Given the description of an element on the screen output the (x, y) to click on. 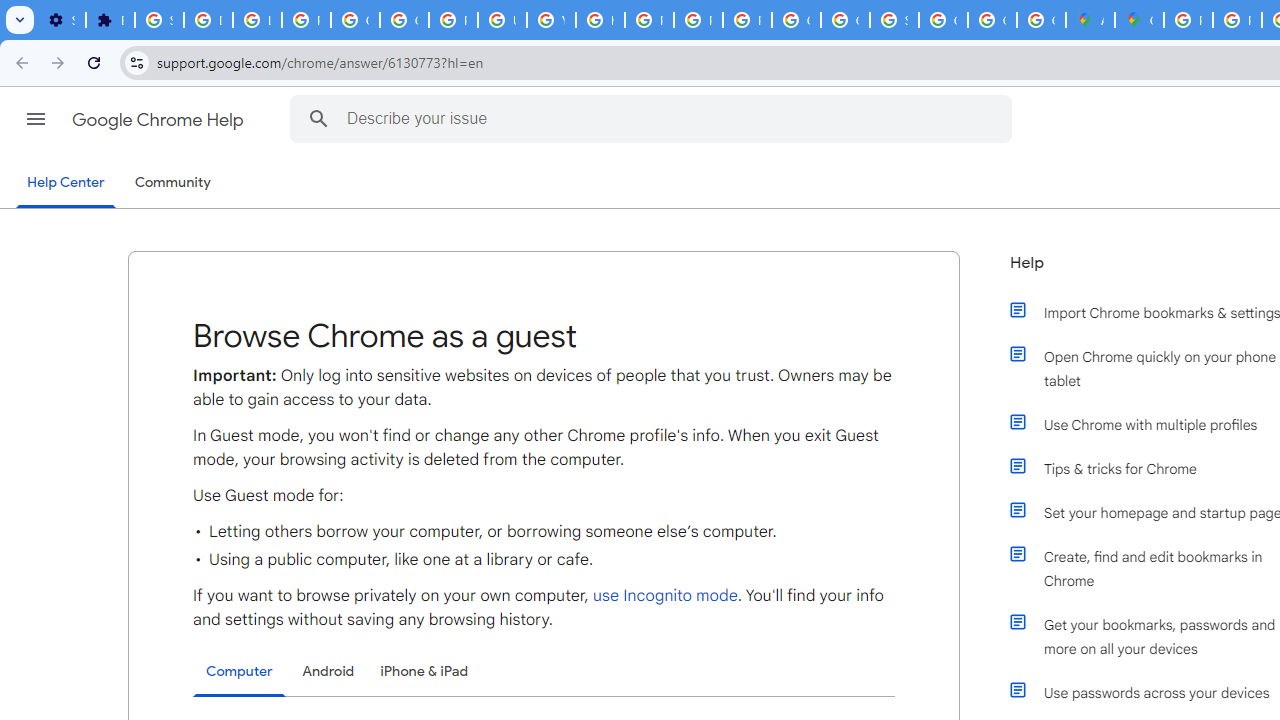
Search Help Center (318, 118)
Privacy Help Center - Policies Help (649, 20)
Google Chrome Help (159, 119)
Google Account Help (355, 20)
iPhone & iPad (424, 671)
https://scholar.google.com/ (600, 20)
